Given the description of an element on the screen output the (x, y) to click on. 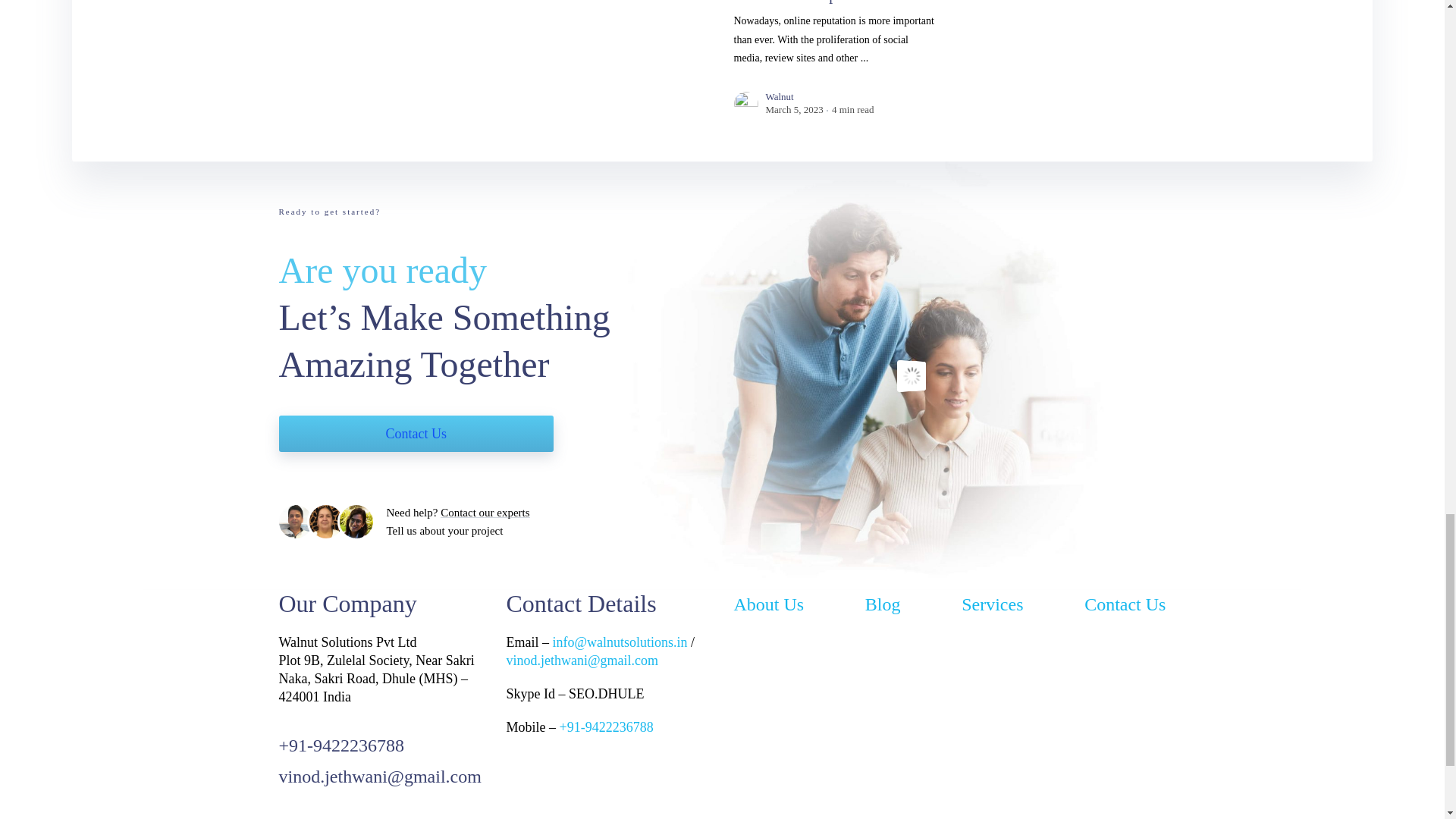
13 Essential Steps for Securing Your Online Reputation  (828, 1)
